Given the description of an element on the screen output the (x, y) to click on. 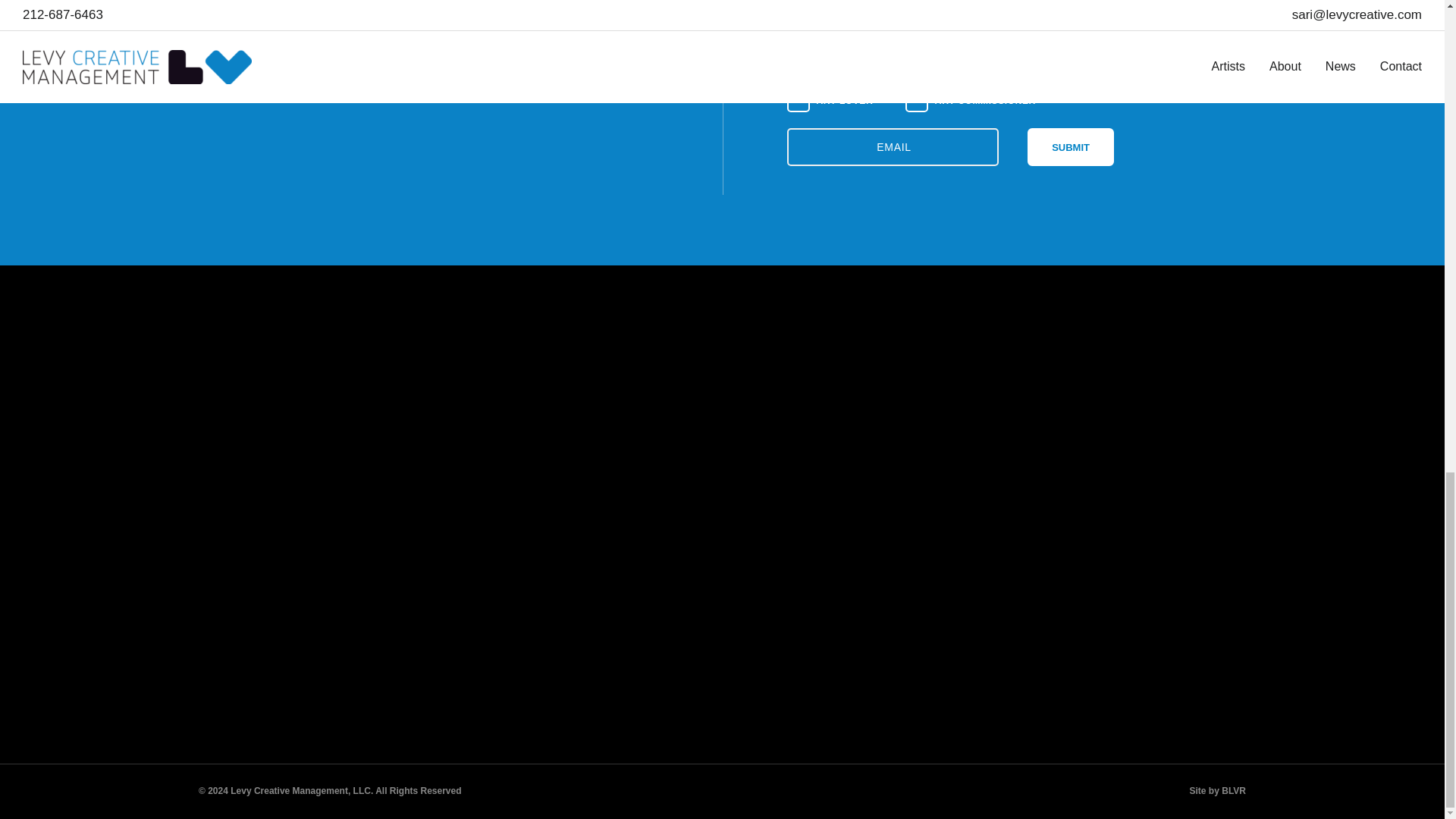
Submit (1070, 146)
BLVR (1233, 790)
Submit (1070, 146)
